Given the description of an element on the screen output the (x, y) to click on. 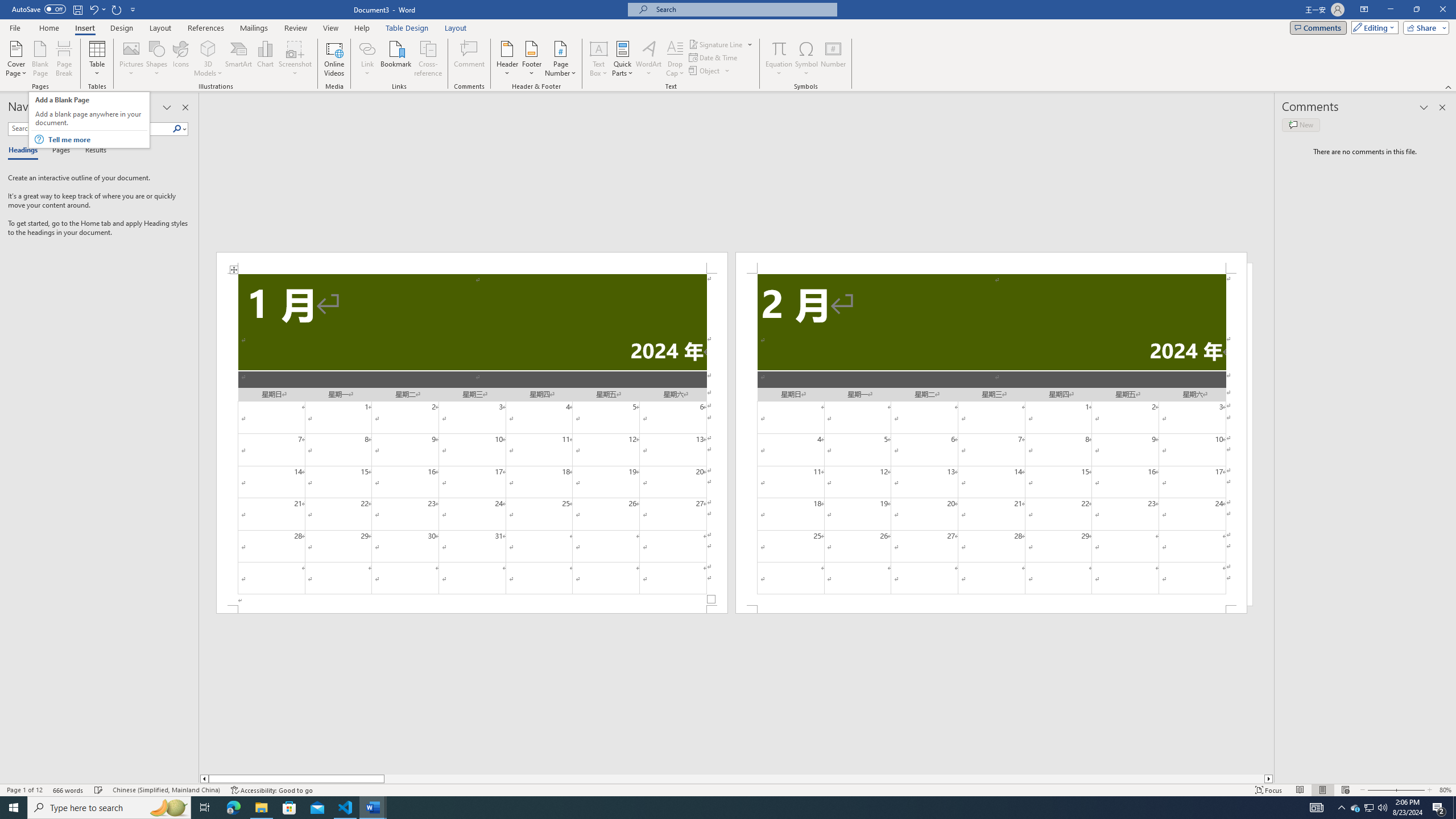
Number... (833, 58)
Link (367, 48)
Footer -Section 2- (991, 609)
Tell me more (96, 139)
New comment (1300, 124)
